Given the description of an element on the screen output the (x, y) to click on. 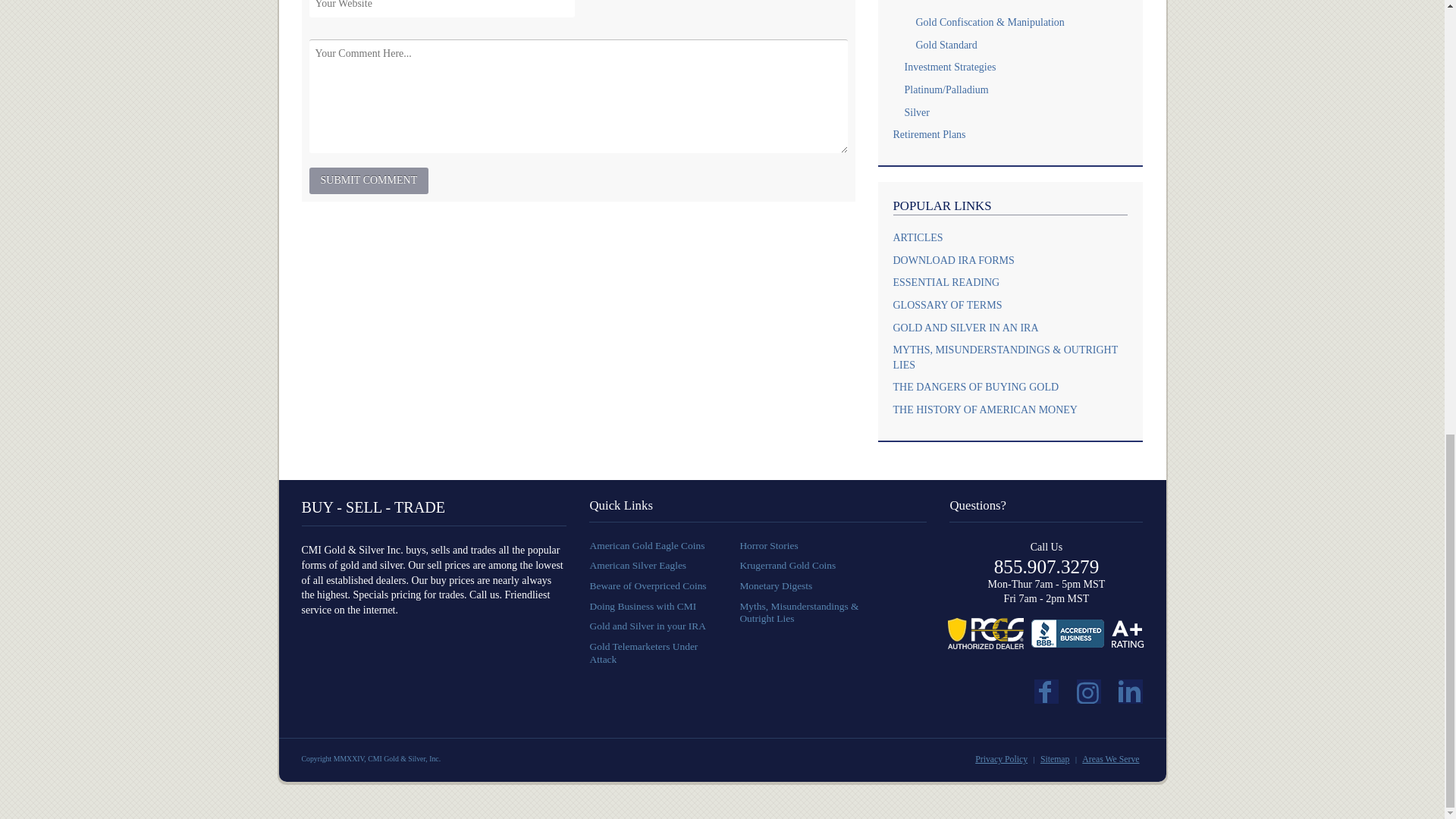
Submit Comment (368, 180)
